Given the description of an element on the screen output the (x, y) to click on. 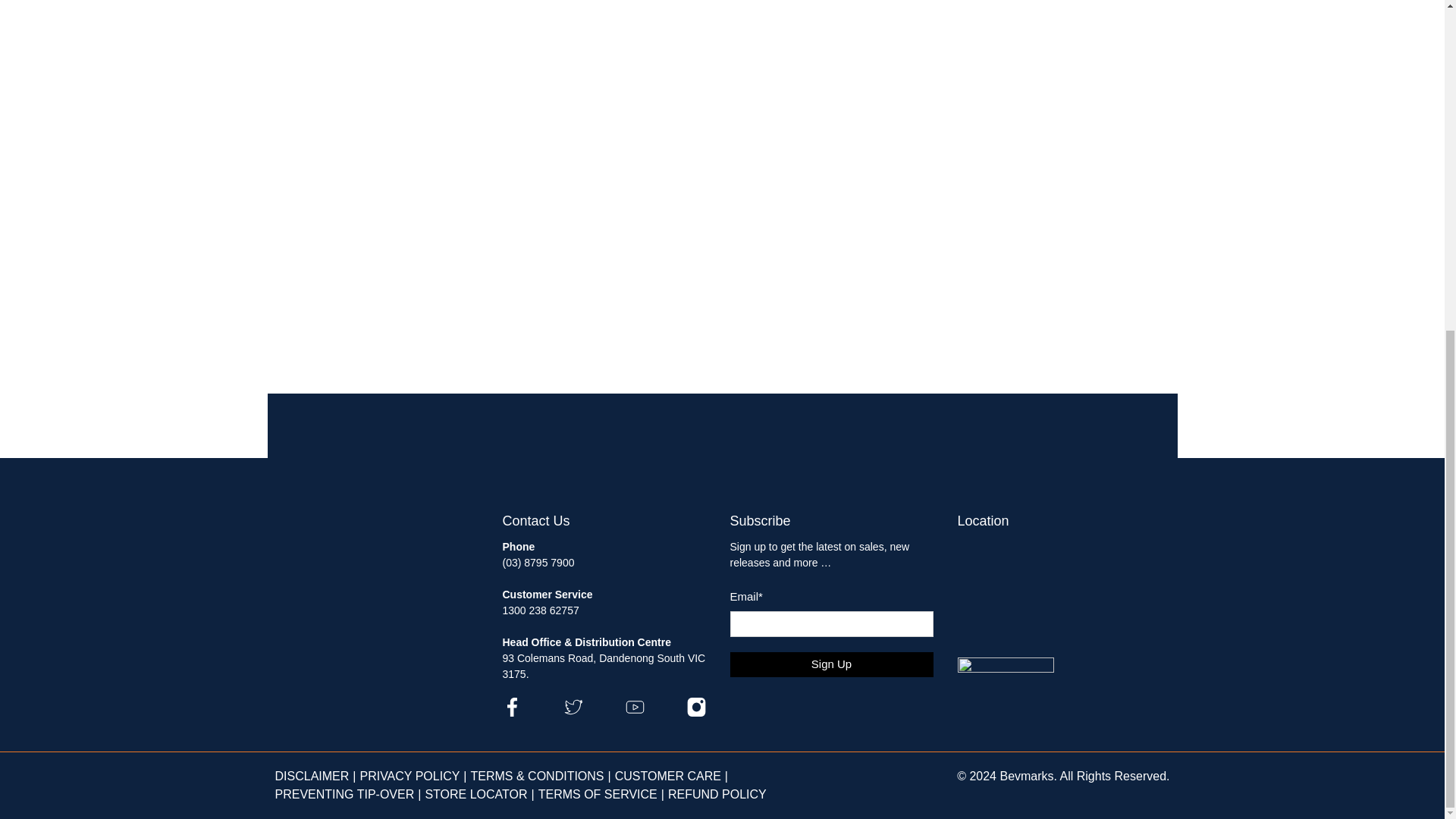
Bevmarks on Instagram (696, 712)
Bevmarks on Facebook (511, 712)
customer call (540, 610)
Bevmarks (338, 536)
Bevmarks on Twitter (573, 712)
Bevmarks on YouTube (633, 712)
footer-phone (537, 570)
